Given the description of an element on the screen output the (x, y) to click on. 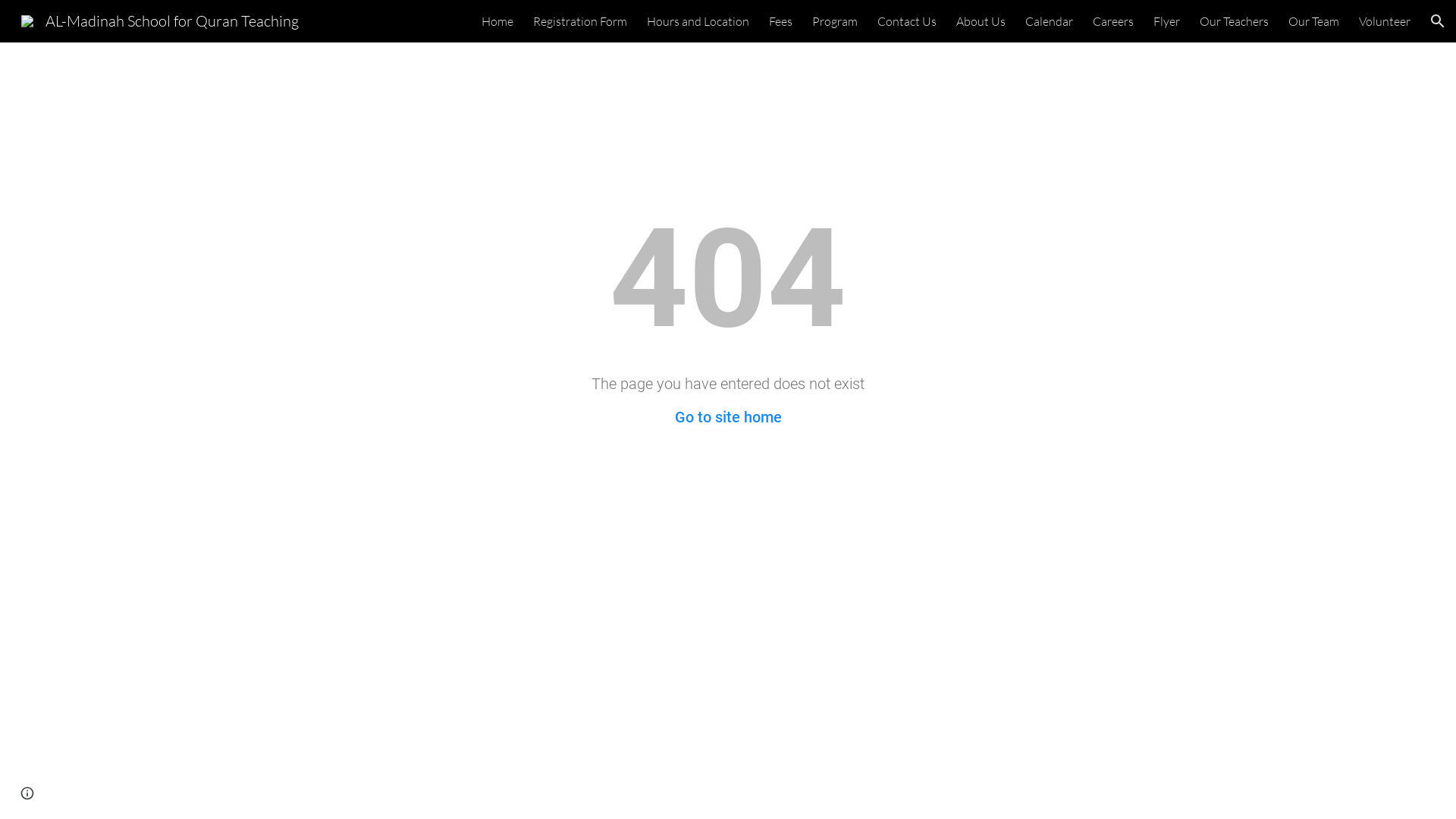
Go to site home Element type: text (727, 416)
Contact Us Element type: text (906, 20)
Flyer Element type: text (1166, 20)
Hours and Location Element type: text (697, 20)
Volunteer Element type: text (1384, 20)
Careers Element type: text (1112, 20)
AL-Madinah School for Quran Teaching Element type: text (159, 18)
Registration Form Element type: text (580, 20)
About Us Element type: text (980, 20)
Program Element type: text (834, 20)
Home Element type: text (497, 20)
Our Teachers Element type: text (1233, 20)
Fees Element type: text (780, 20)
Our Team Element type: text (1313, 20)
Calendar Element type: text (1049, 20)
